Given the description of an element on the screen output the (x, y) to click on. 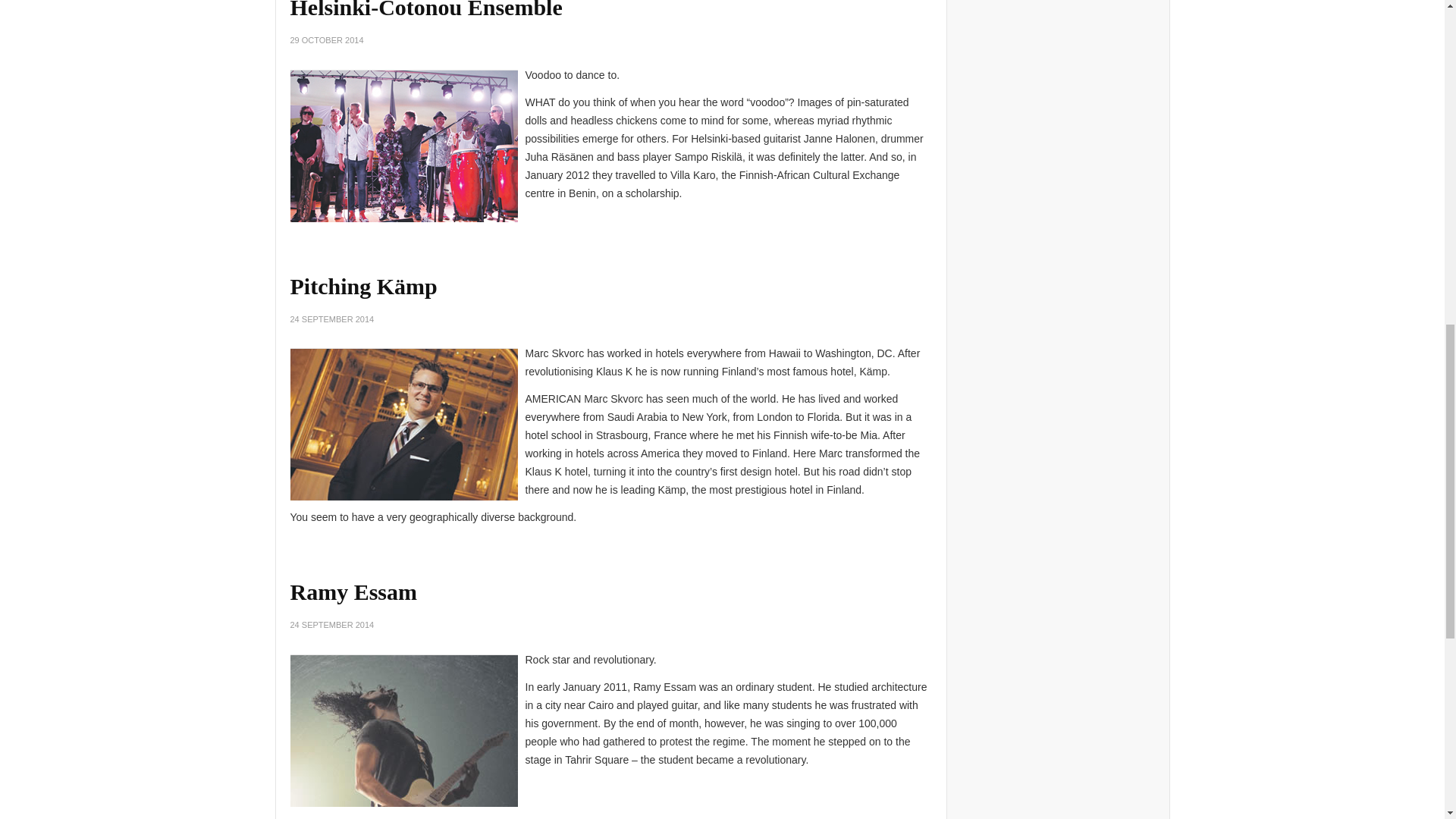
Ramy Essam (352, 591)
Helsinki-Cotonou Ensemble (425, 9)
Helsinki-Cotonou Ensemble (425, 9)
Ramy Essam (352, 591)
